Given the description of an element on the screen output the (x, y) to click on. 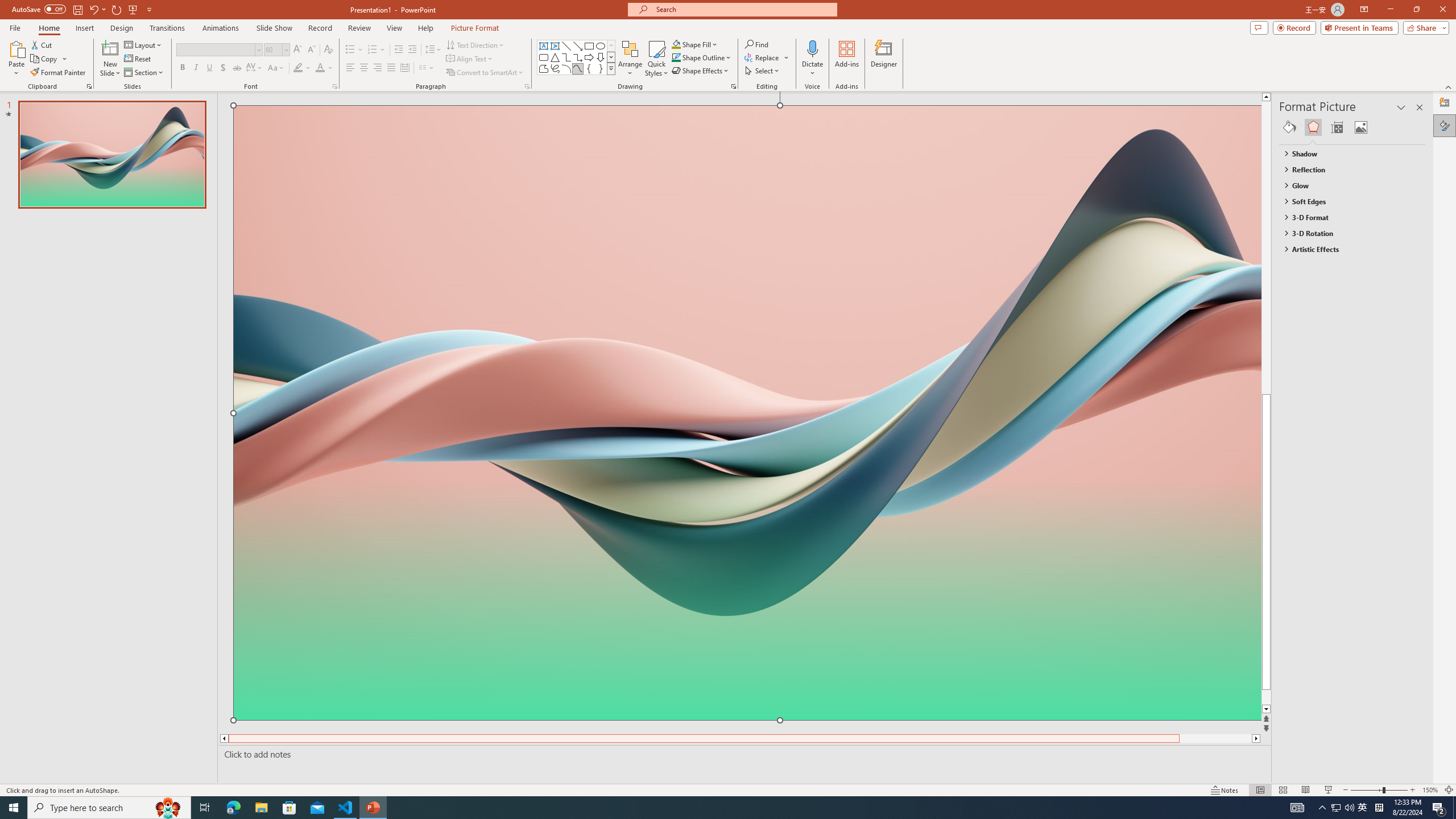
Fill & Line (1288, 126)
